Given the description of an element on the screen output the (x, y) to click on. 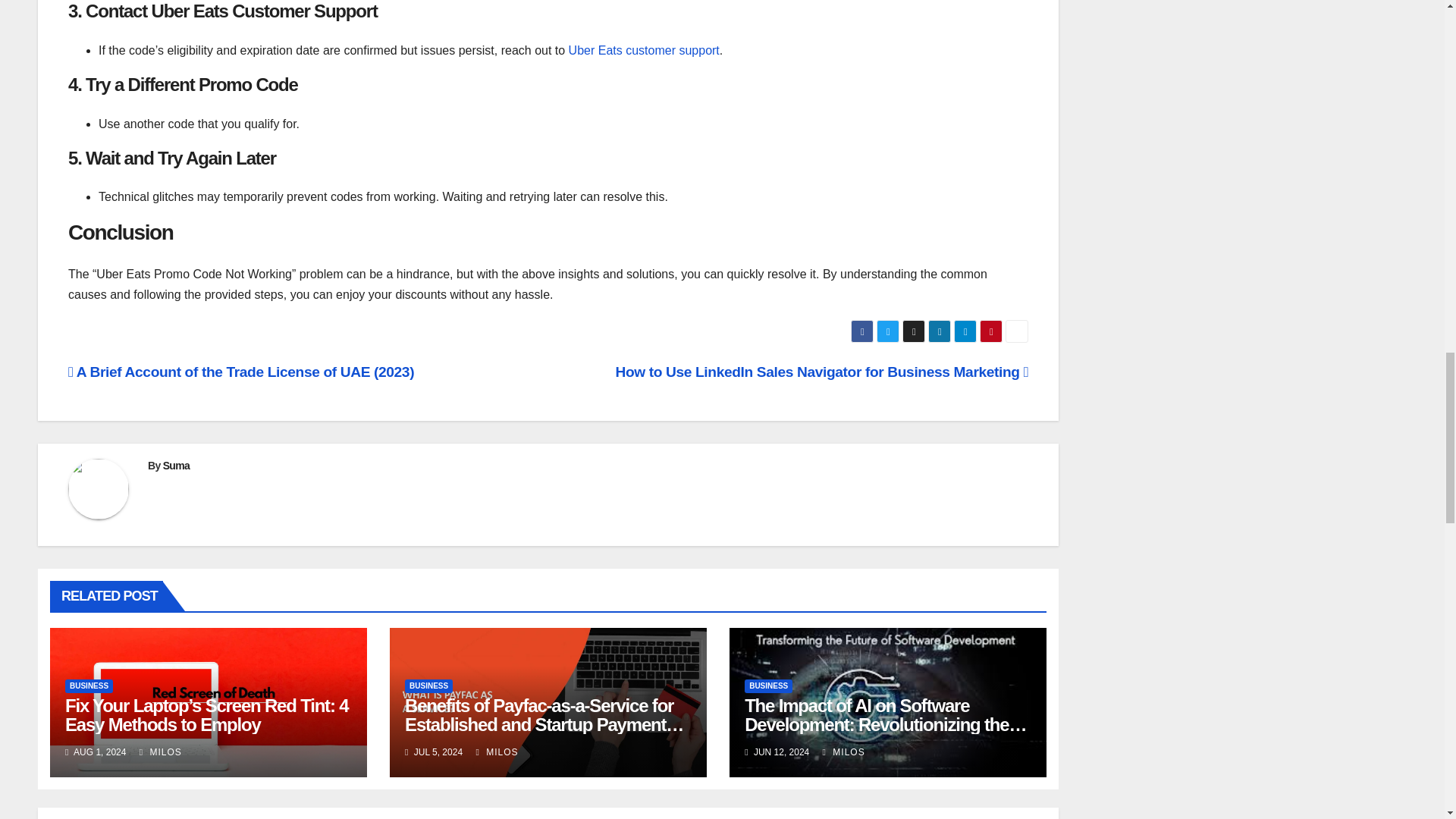
How to Use LinkedIn Sales Navigator for Business Marketing (820, 371)
Uber Eats customer support (644, 50)
